Given the description of an element on the screen output the (x, y) to click on. 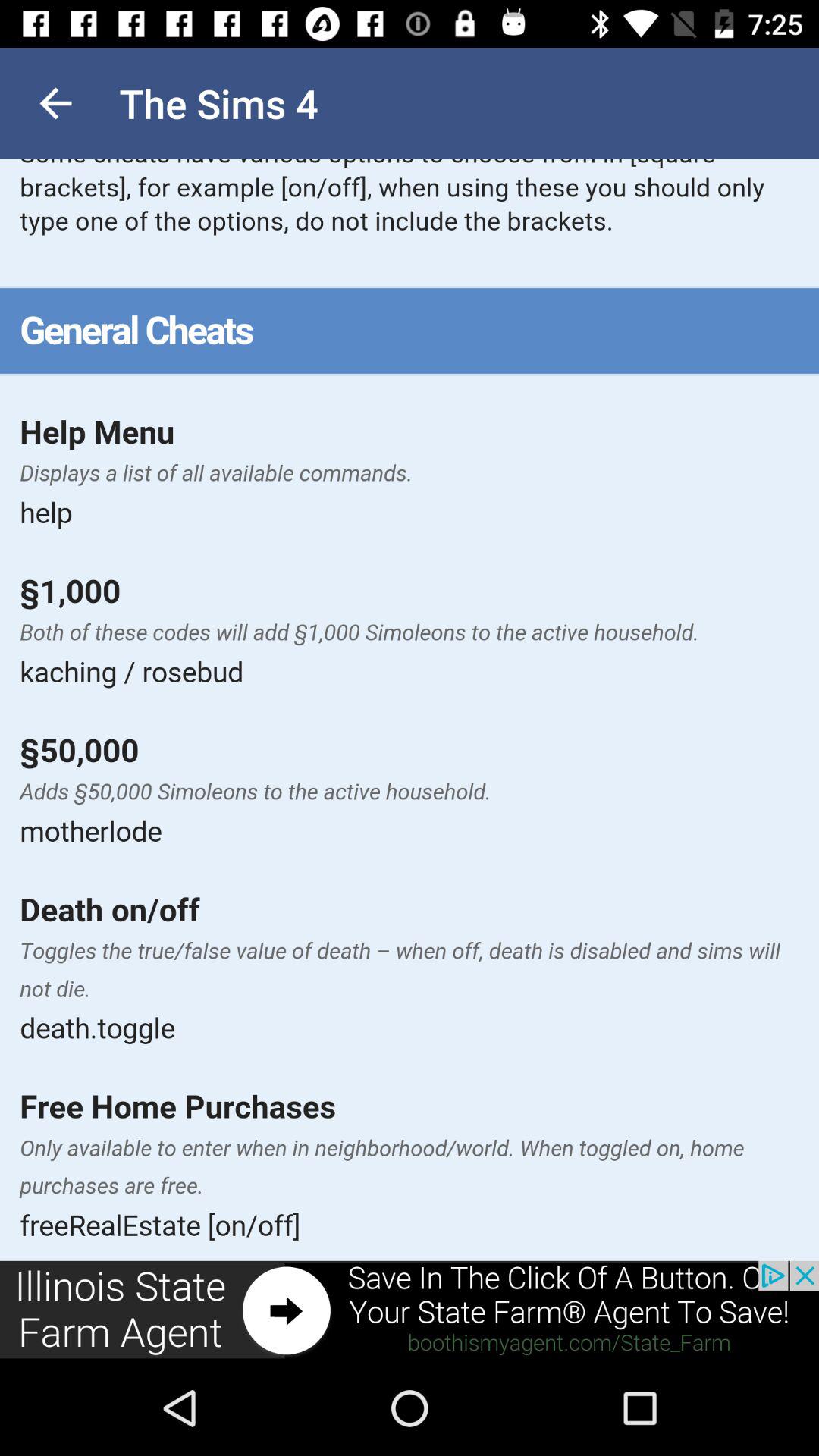
know about the advertisement (409, 1310)
